Given the description of an element on the screen output the (x, y) to click on. 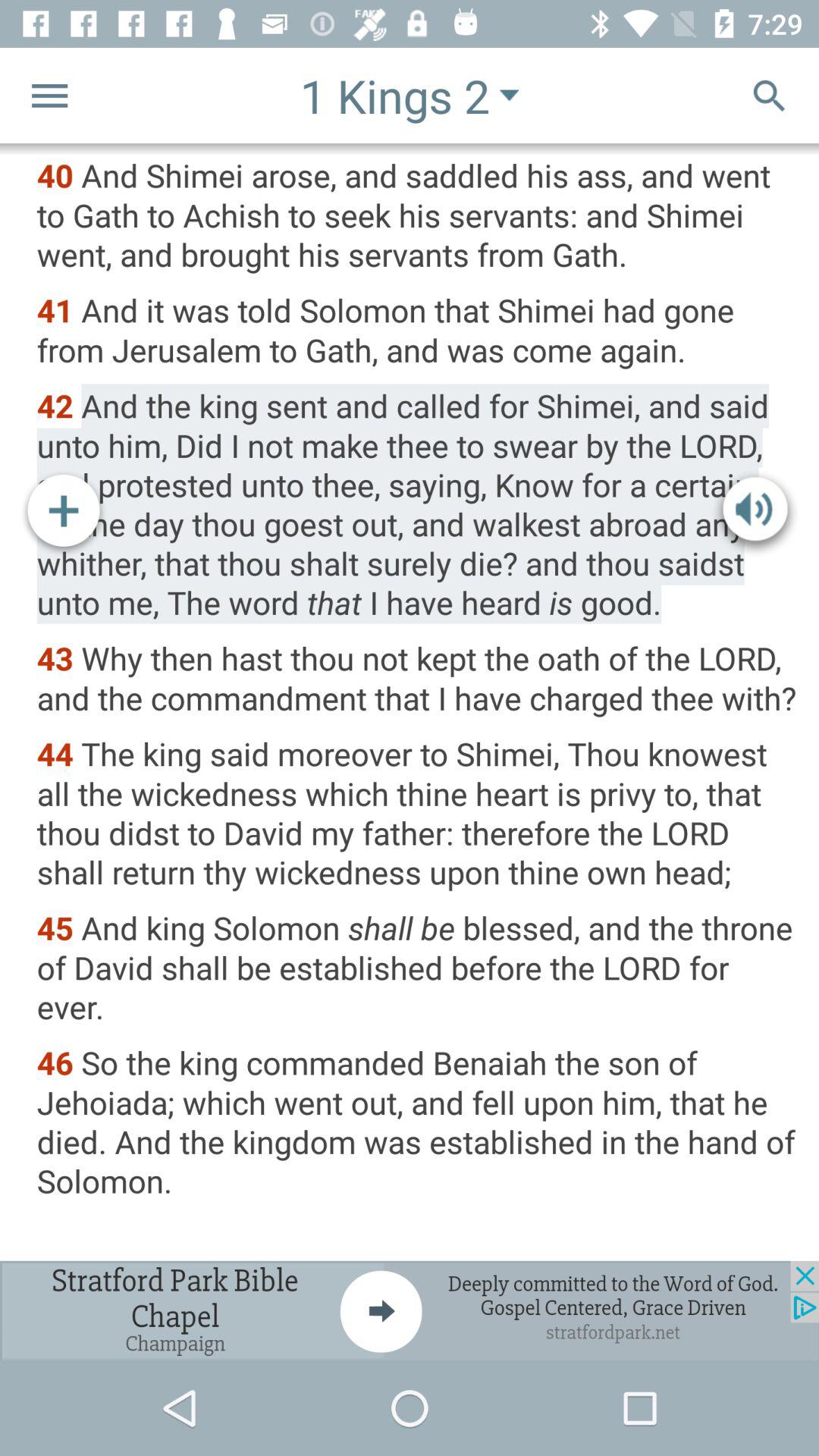
add to reading plan (63, 513)
